Given the description of an element on the screen output the (x, y) to click on. 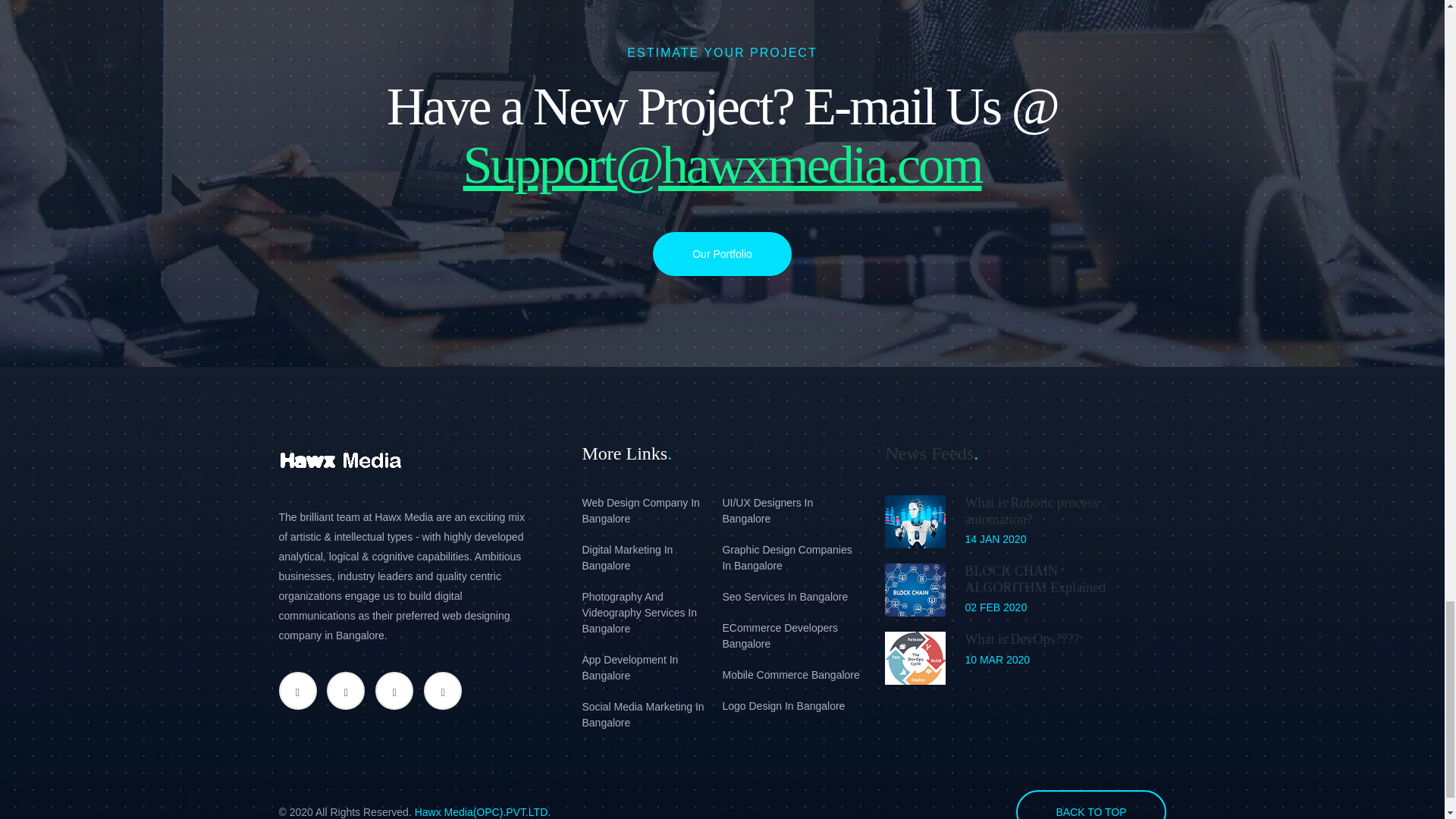
Logo Design In Bangalore (791, 706)
Our Portfolio (722, 253)
BACK TO TOP (1091, 804)
BLOCK CHAIN ALGORITHM Explained (1034, 579)
App Development In Bangalore (651, 667)
What is DevOps???? (1020, 639)
Mobile Commerce Bangalore (791, 675)
Digital Marketing In Bangalore (651, 558)
Social Media Marketing In Bangalore (651, 715)
ECommerce Developers Bangalore (791, 635)
